Given the description of an element on the screen output the (x, y) to click on. 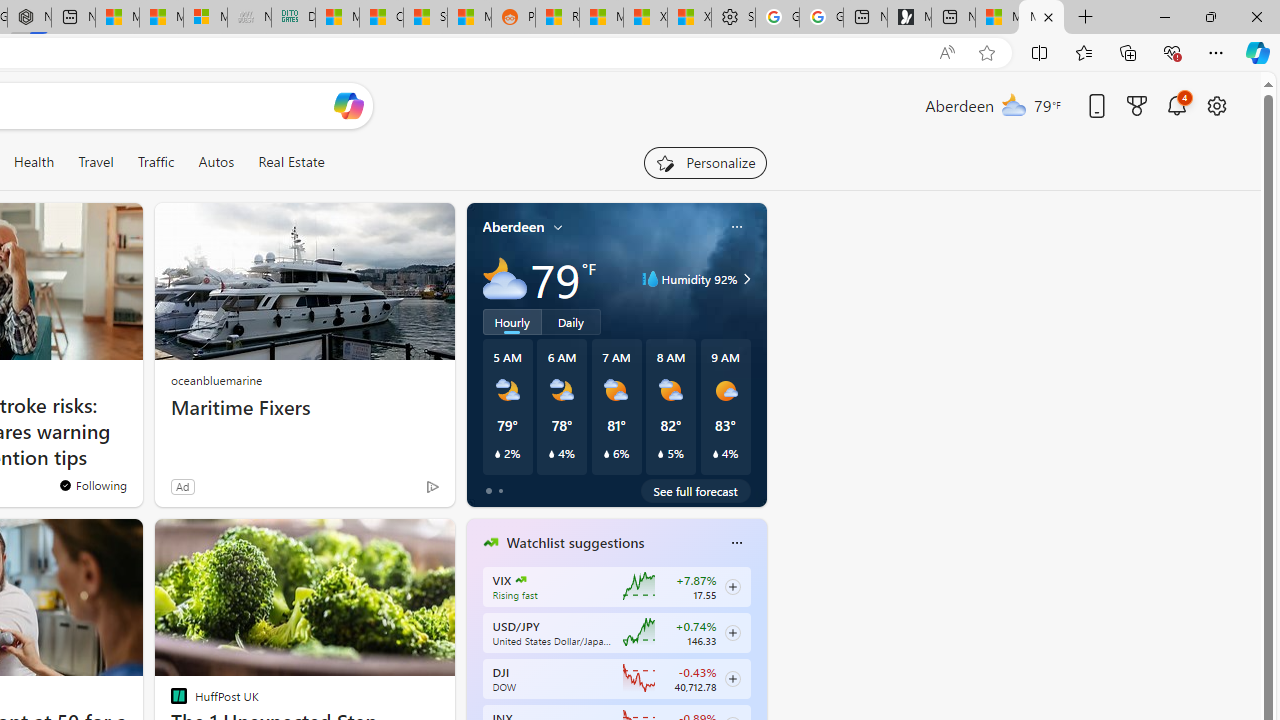
You're following FOX News (92, 485)
tab-1 (500, 490)
oceanbluemarine (216, 380)
Class: icon-img (736, 542)
Aberdeen (513, 227)
Humidity 92% (744, 278)
Health (33, 162)
Travel (95, 162)
Real Estate (291, 161)
